Given the description of an element on the screen output the (x, y) to click on. 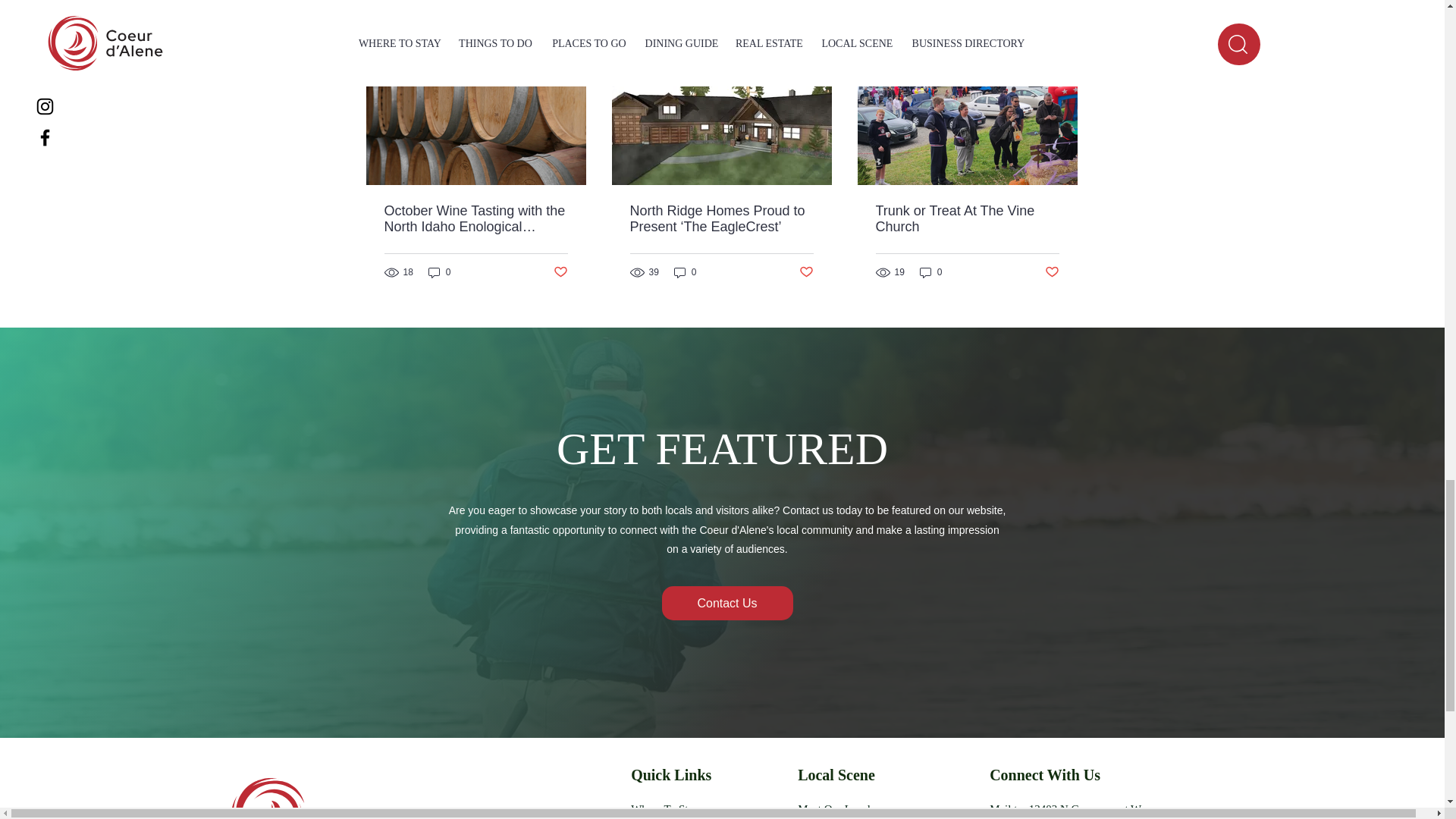
Post not marked as liked (806, 272)
Post not marked as liked (560, 272)
See All (1061, 34)
0 (685, 272)
0 (439, 272)
